Given the description of an element on the screen output the (x, y) to click on. 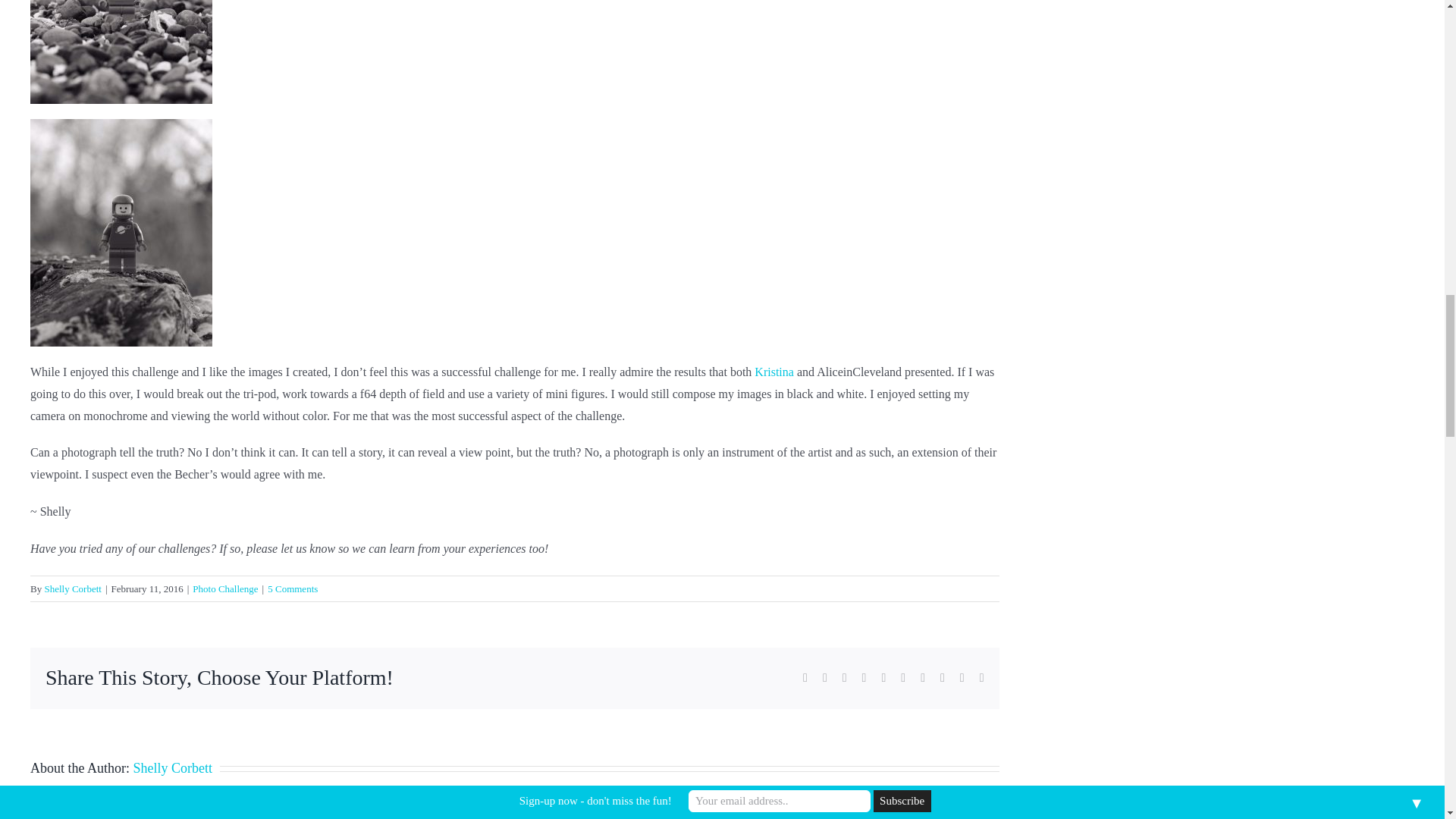
Posts by Shelly Corbett (71, 588)
